Given the description of an element on the screen output the (x, y) to click on. 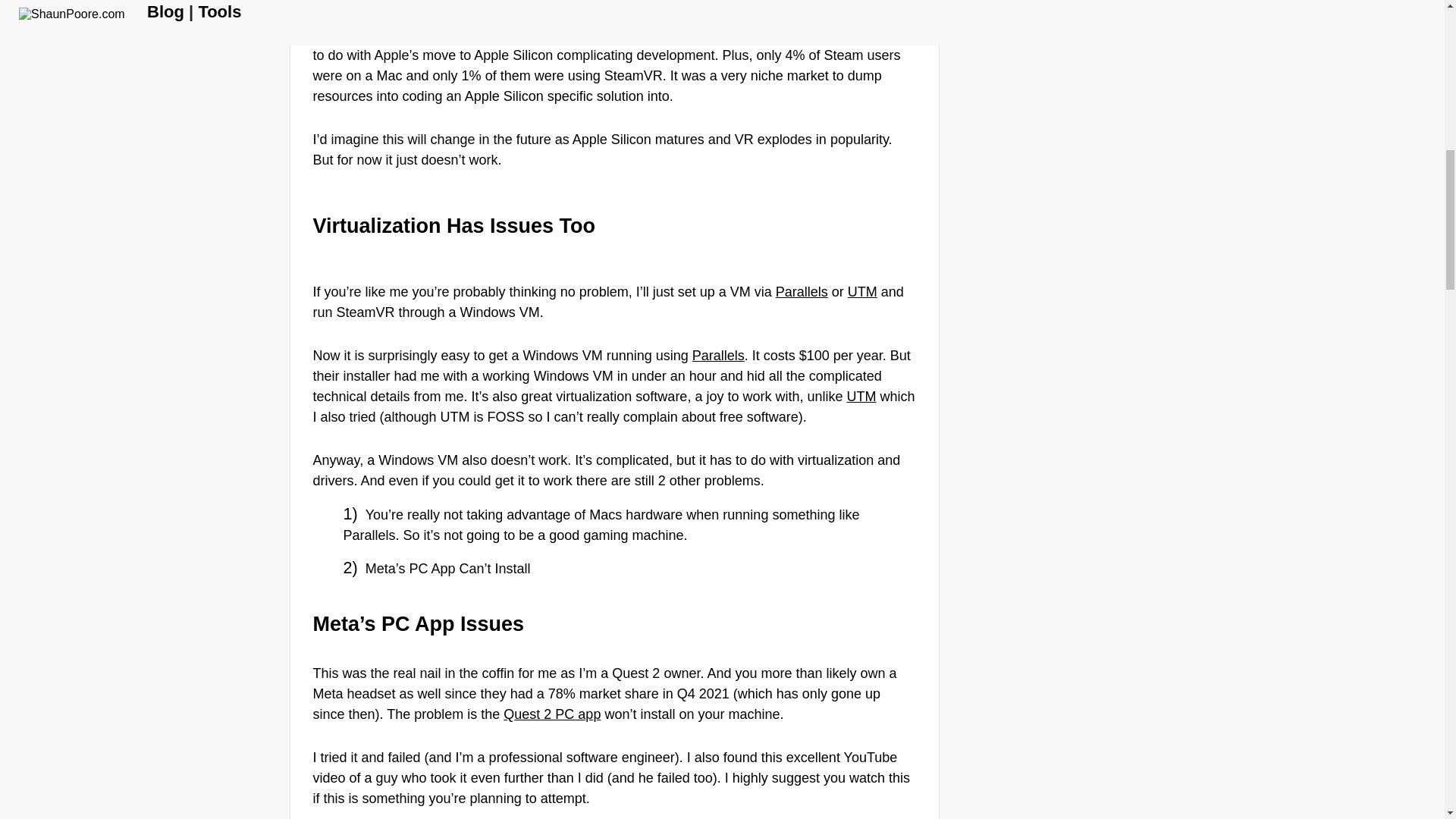
Parallels (802, 291)
Parallels (718, 355)
Quest 2 PC app (551, 713)
UTM (862, 291)
SteamVR dropped support for MacOS a couple years ago. (600, 34)
UTM (860, 396)
